Given the description of an element on the screen output the (x, y) to click on. 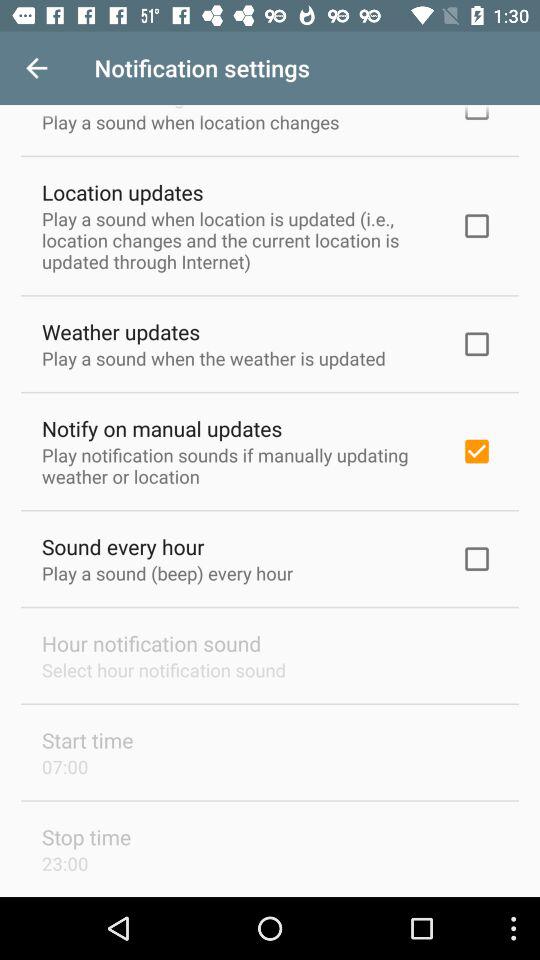
tap the item below the 07:00 icon (86, 836)
